Given the description of an element on the screen output the (x, y) to click on. 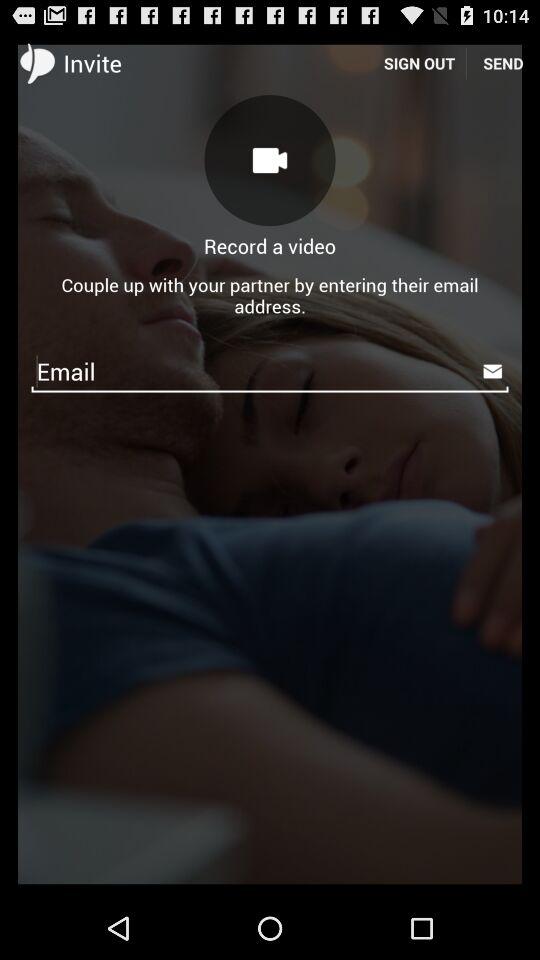
open the send item (503, 62)
